Given the description of an element on the screen output the (x, y) to click on. 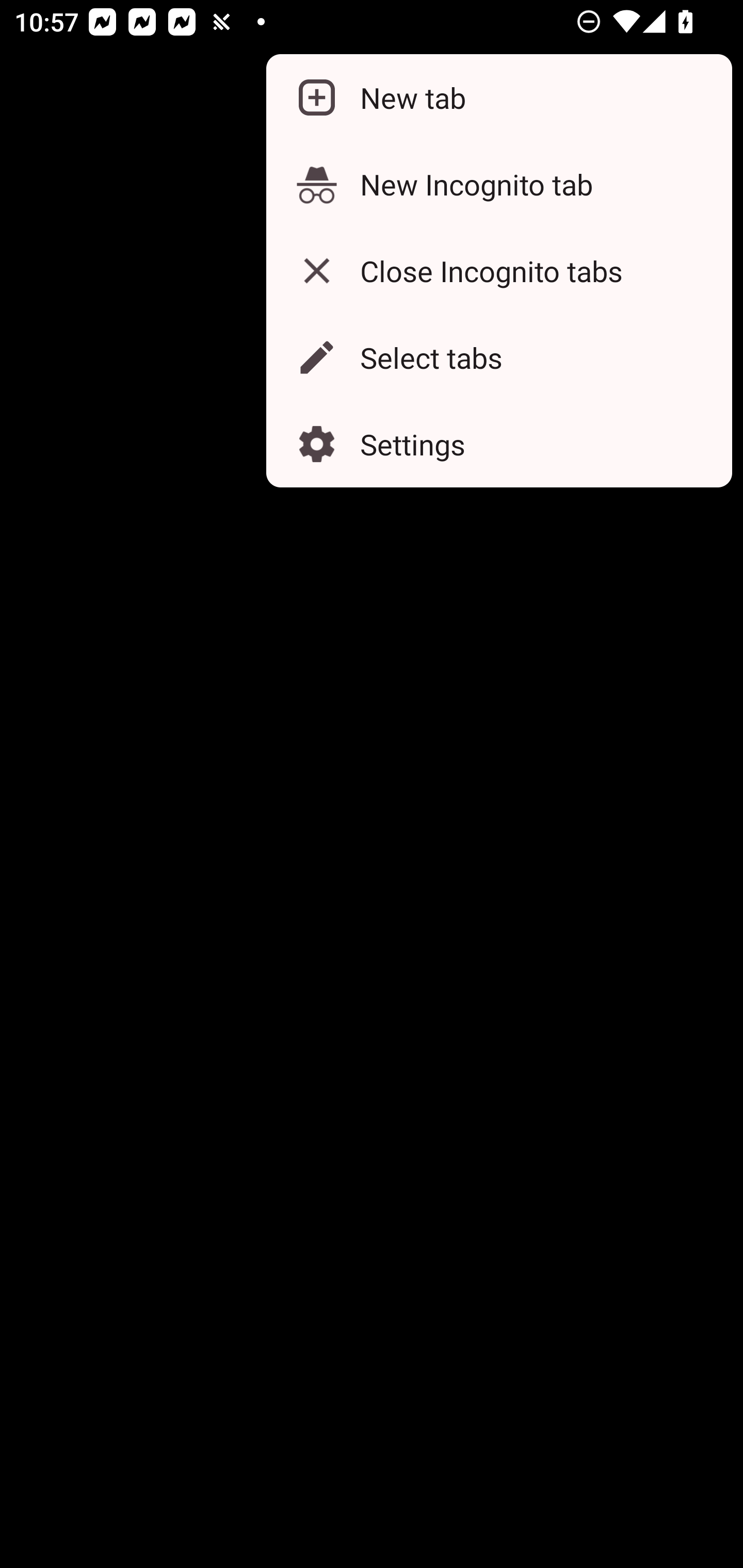
New tab (498, 97)
New Incognito tab (498, 184)
Close Incognito tabs (498, 270)
Select tabs (498, 357)
Settings (498, 444)
